Given the description of an element on the screen output the (x, y) to click on. 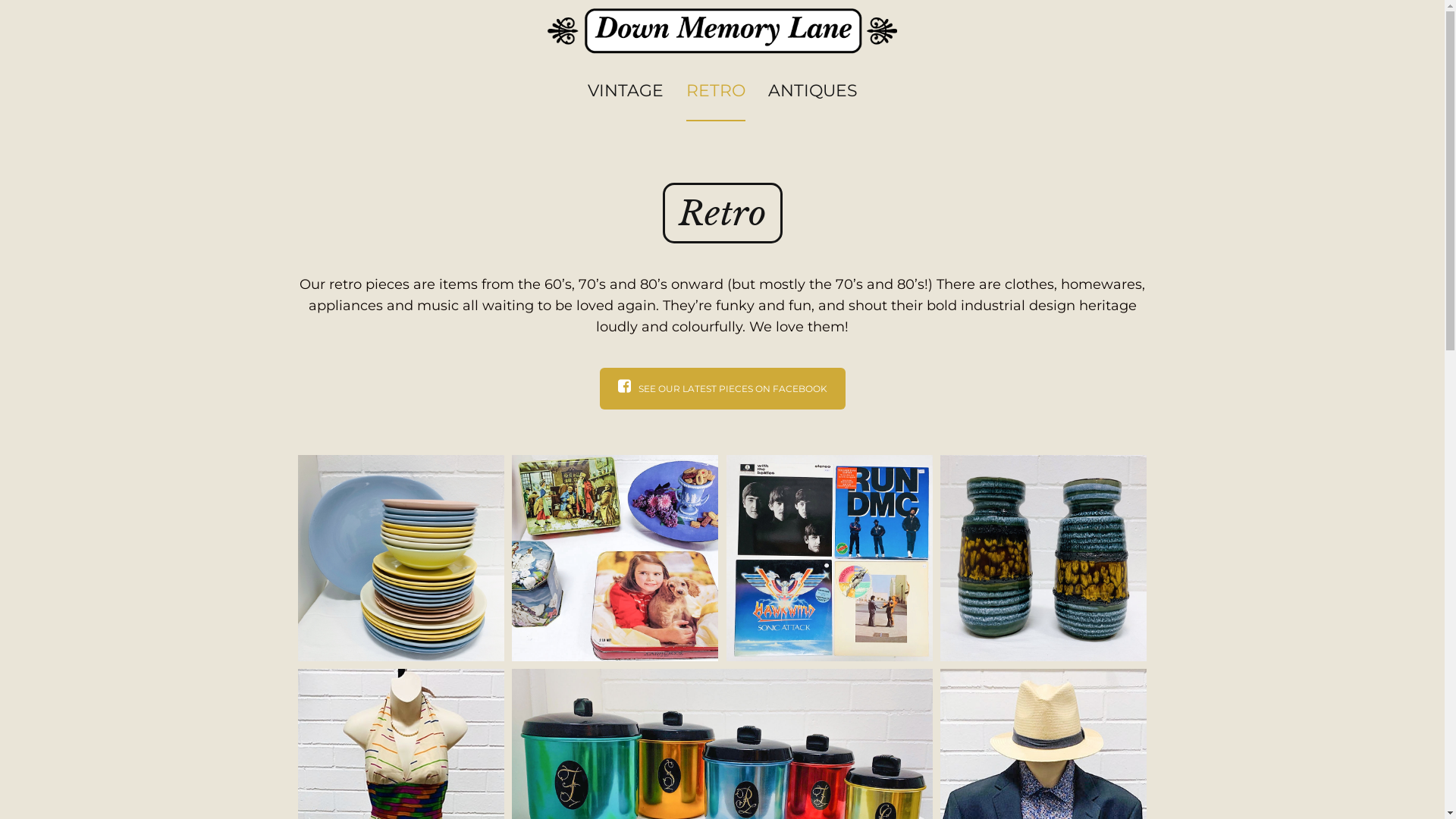
SEE OUR LATEST PIECES ON FACEBOOK Element type: text (721, 388)
Vinyl LPs. Rock and roll, jazz, blues
 Element type: hover (829, 558)
RETRO Element type: text (714, 90)
VINTAGE Element type: text (624, 90)
ANTIQUES Element type: text (811, 90)
